Given the description of an element on the screen output the (x, y) to click on. 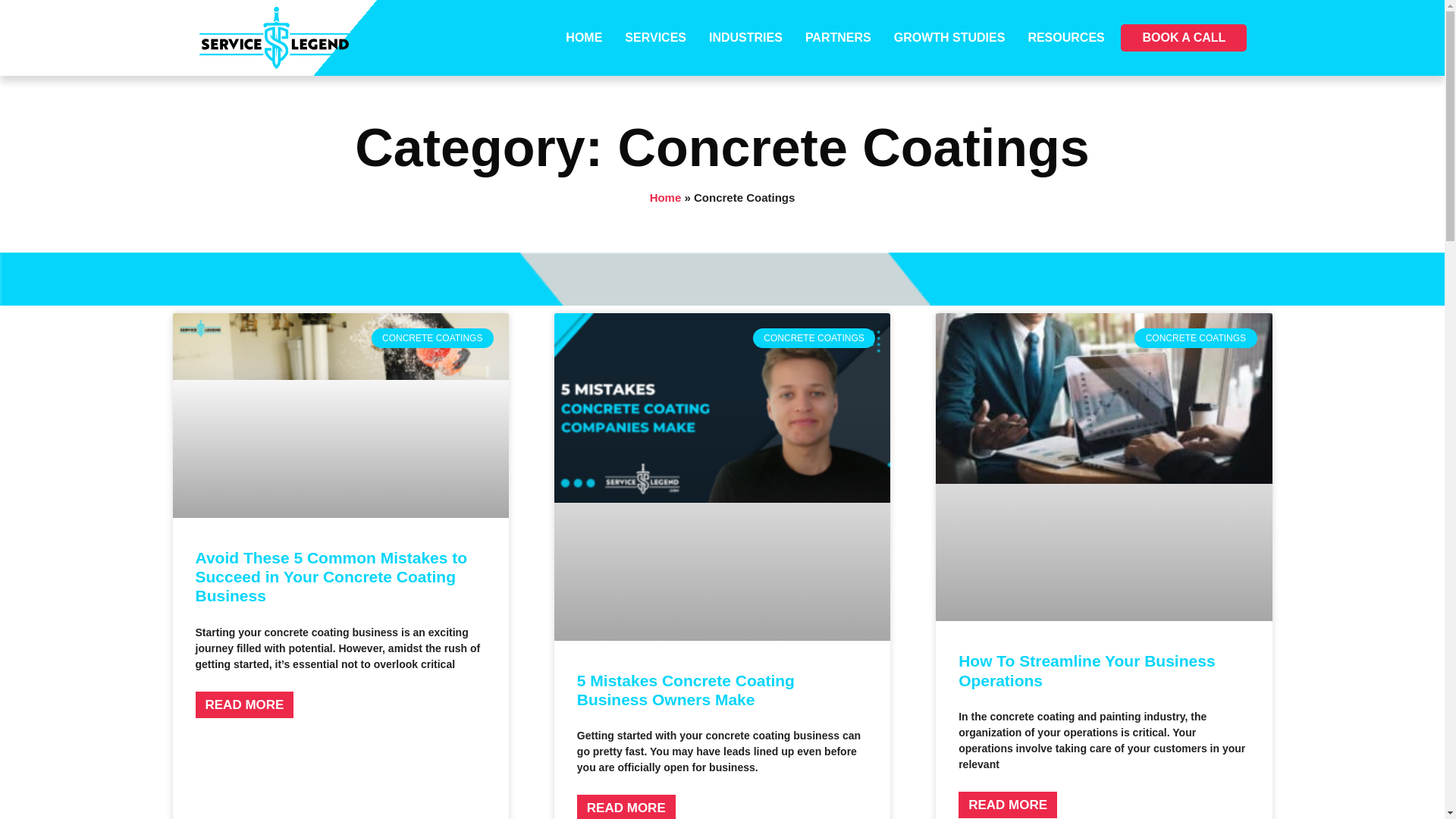
GROWTH STUDIES (949, 37)
RESOURCES (1065, 37)
PARTNERS (837, 37)
HOME (584, 37)
INDUSTRIES (746, 37)
SERVICES (654, 37)
